Given the description of an element on the screen output the (x, y) to click on. 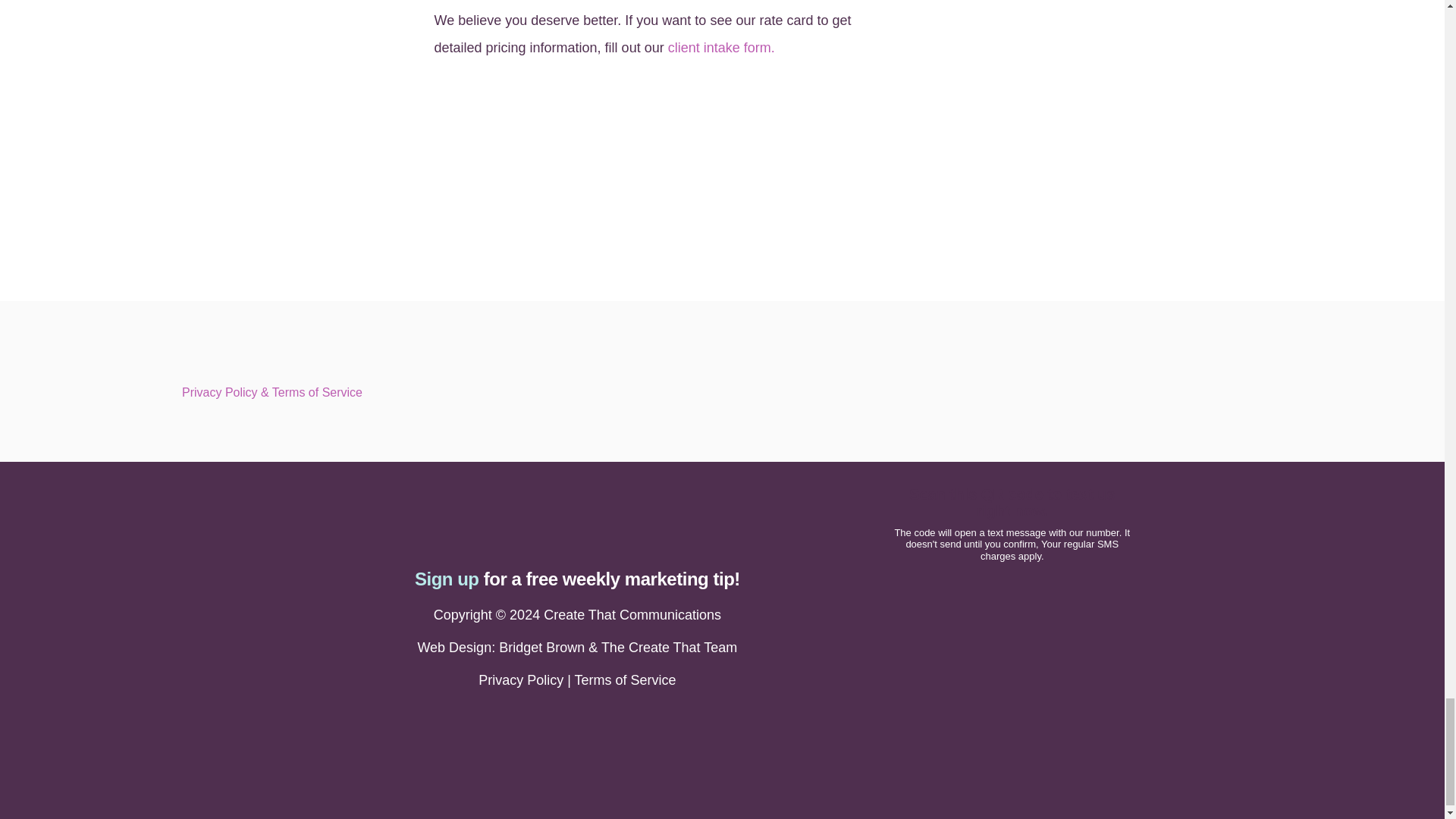
ms of Service (635, 679)
Privacy Policy  (523, 679)
Term (584, 679)
client intake form. (721, 47)
